Given the description of an element on the screen output the (x, y) to click on. 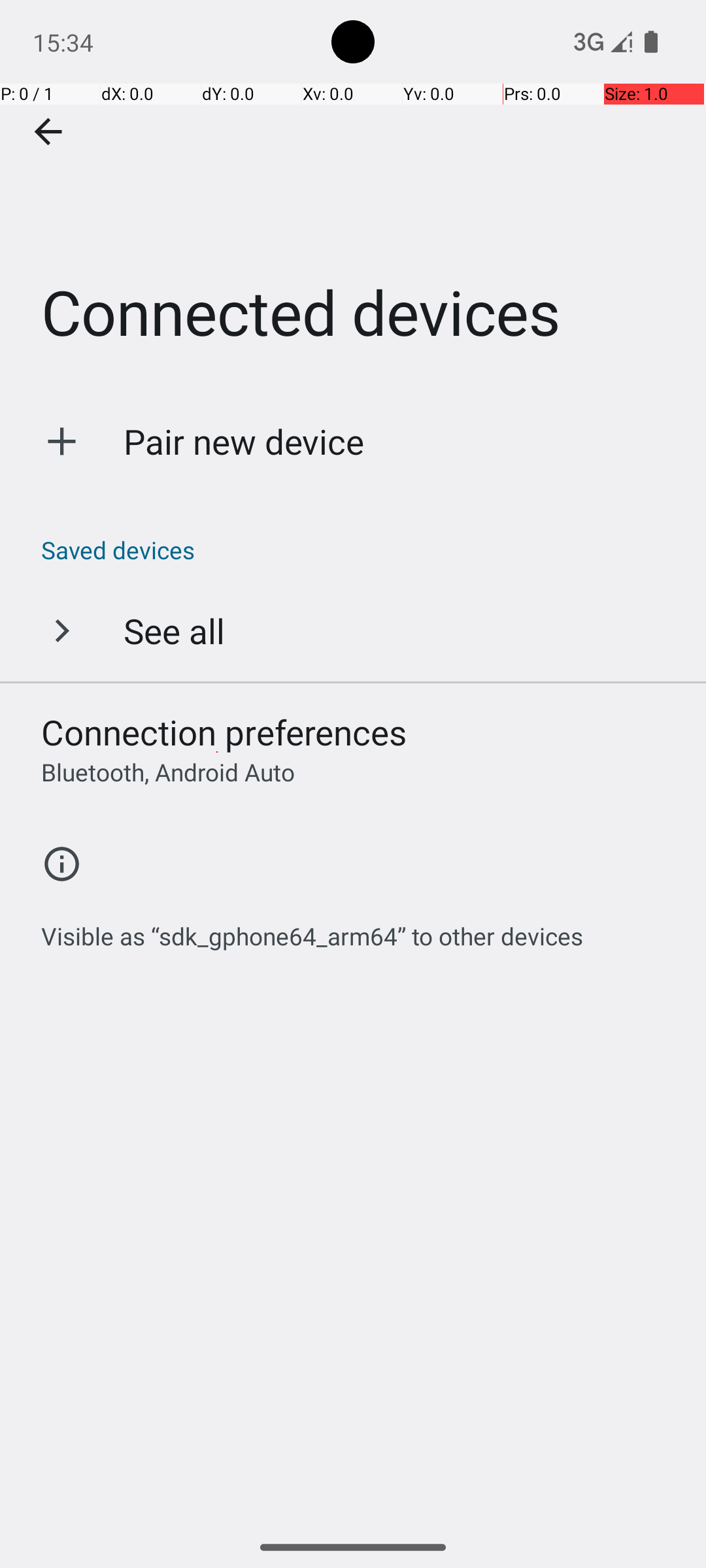
Visible as “sdk_gphone64_arm64” to other devices Element type: android.widget.TextView (312, 928)
